Given the description of an element on the screen output the (x, y) to click on. 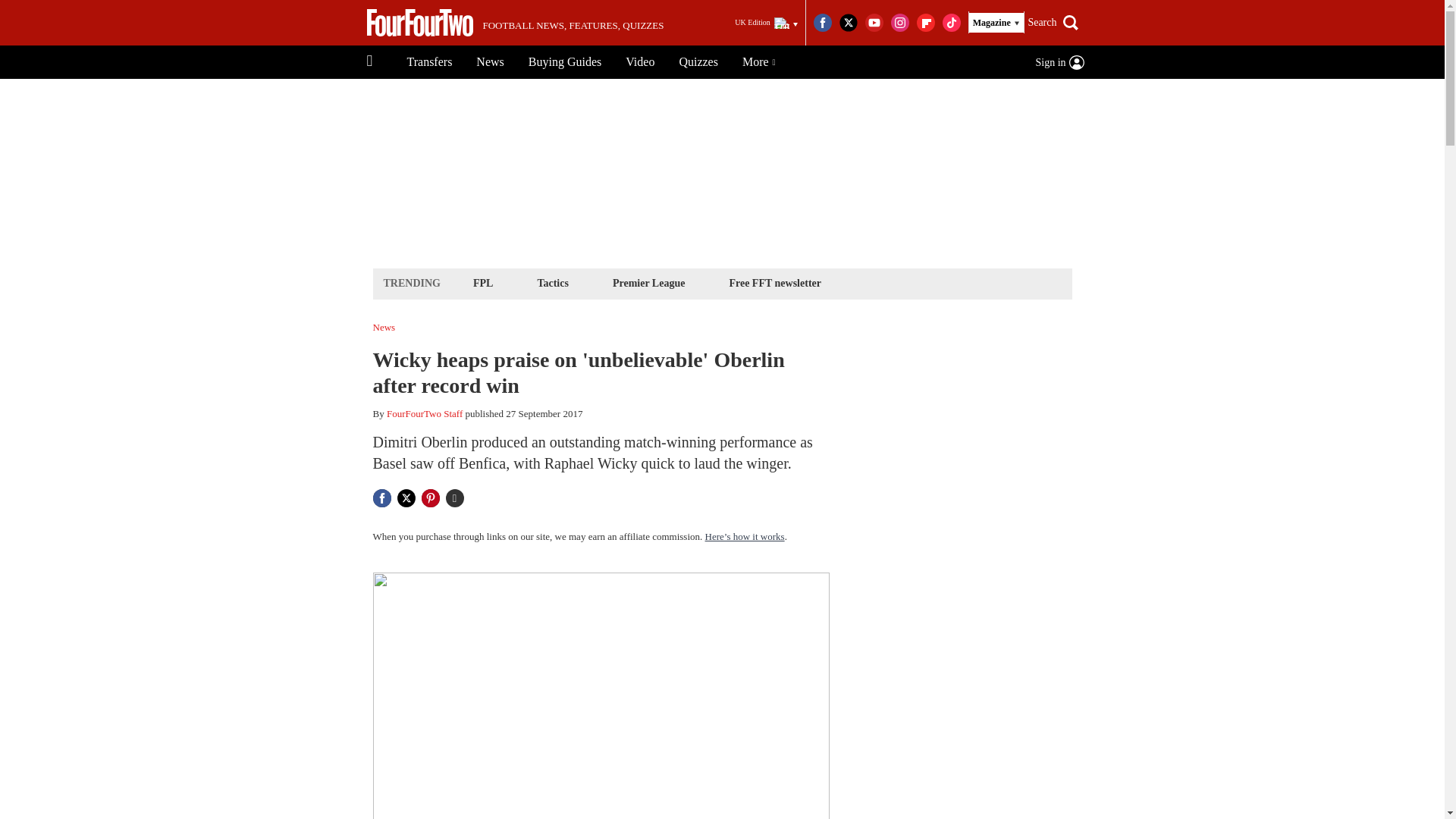
FOOTBALL NEWS, FEATURES, QUIZZES (514, 22)
FourFourTwo Staff (425, 413)
Transfers (429, 61)
FPL (482, 282)
UK Edition (765, 22)
Premier League (648, 282)
Video (639, 61)
Buying Guides (564, 61)
News (489, 61)
Tactics (552, 282)
